Given the description of an element on the screen output the (x, y) to click on. 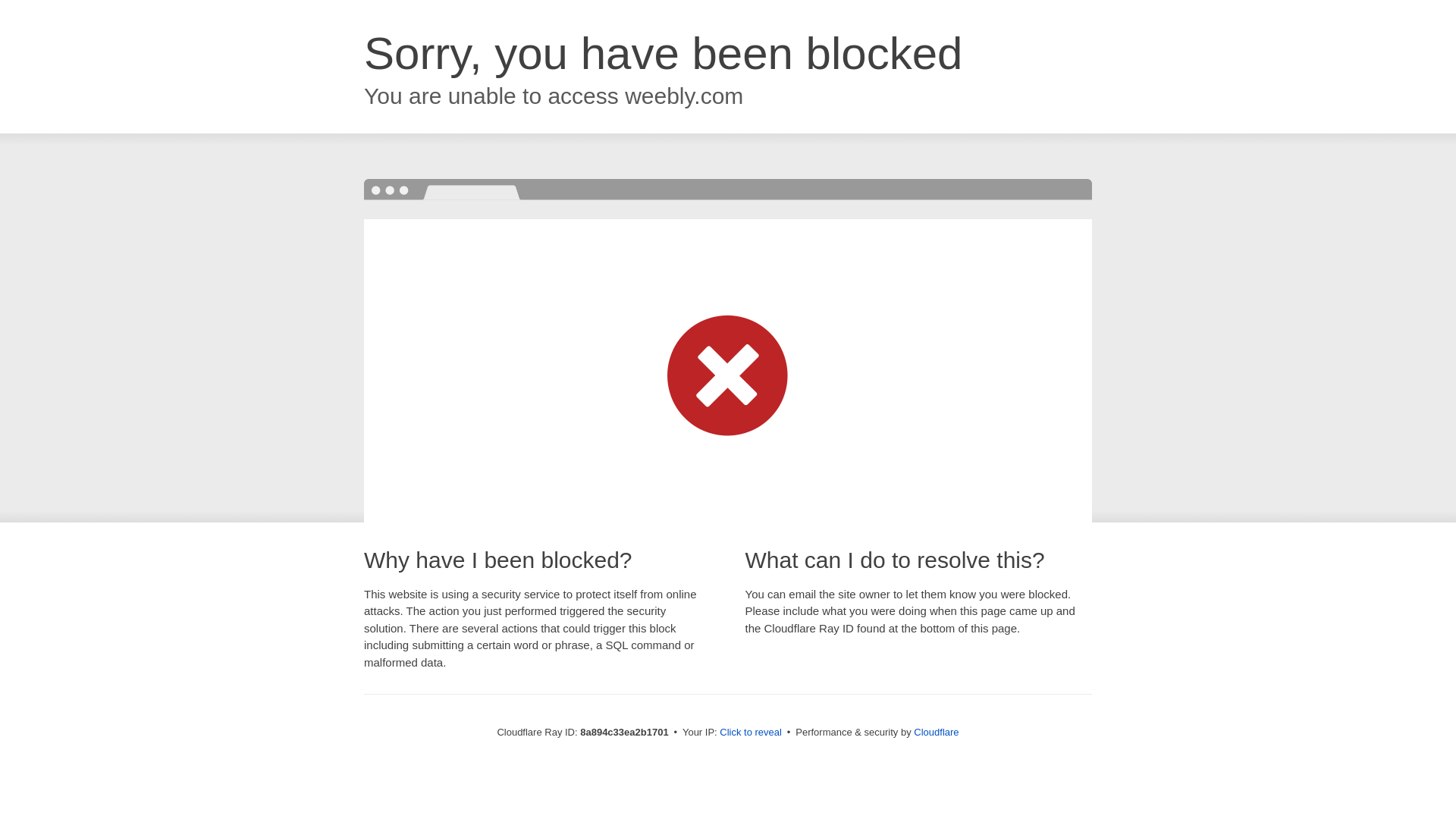
Cloudflare (936, 731)
Click to reveal (750, 732)
